Given the description of an element on the screen output the (x, y) to click on. 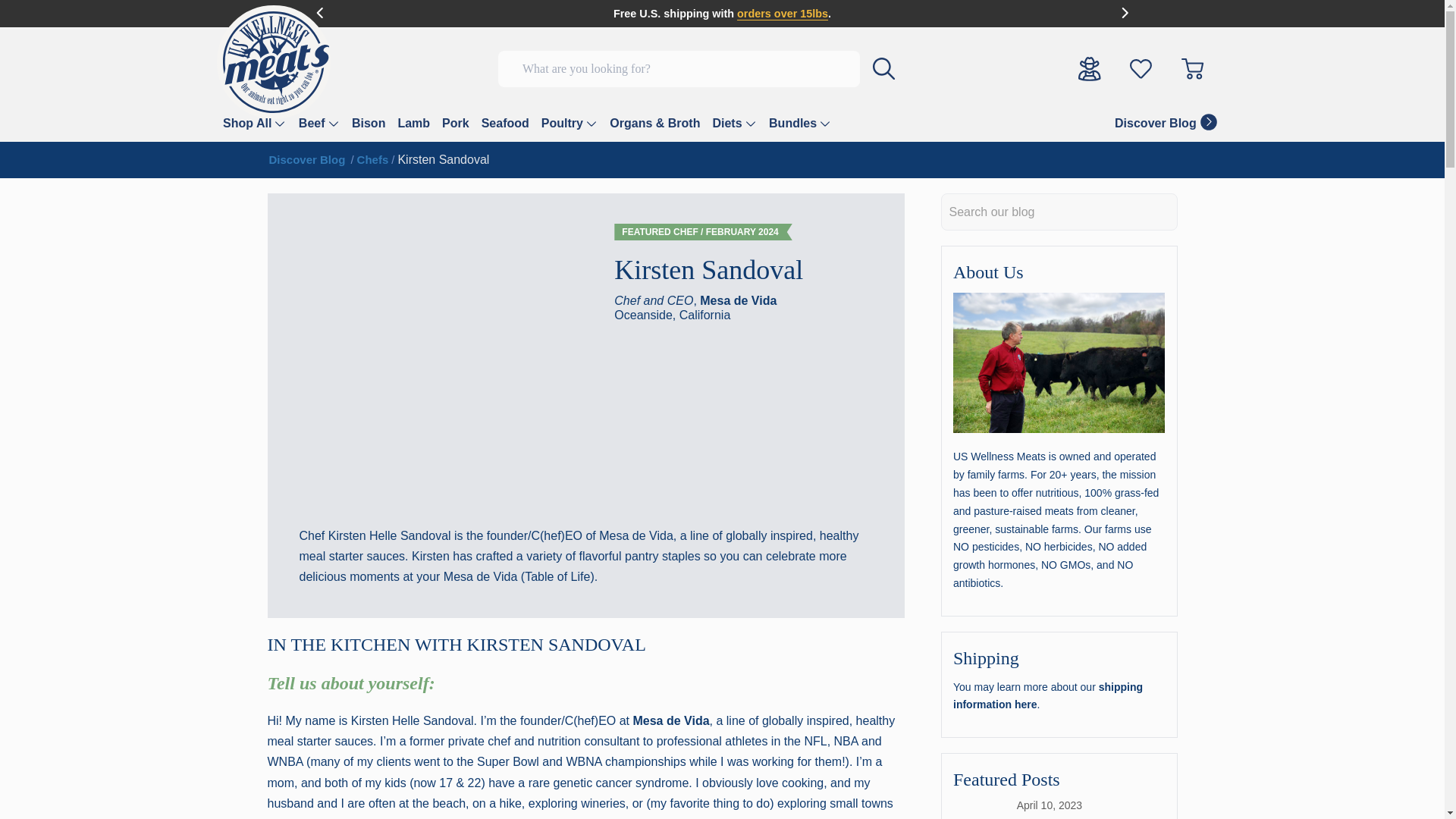
John Wood (1058, 363)
Kirsten Sandoval (443, 159)
orders over 15lbs (782, 13)
Chefs (372, 159)
